Given the description of an element on the screen output the (x, y) to click on. 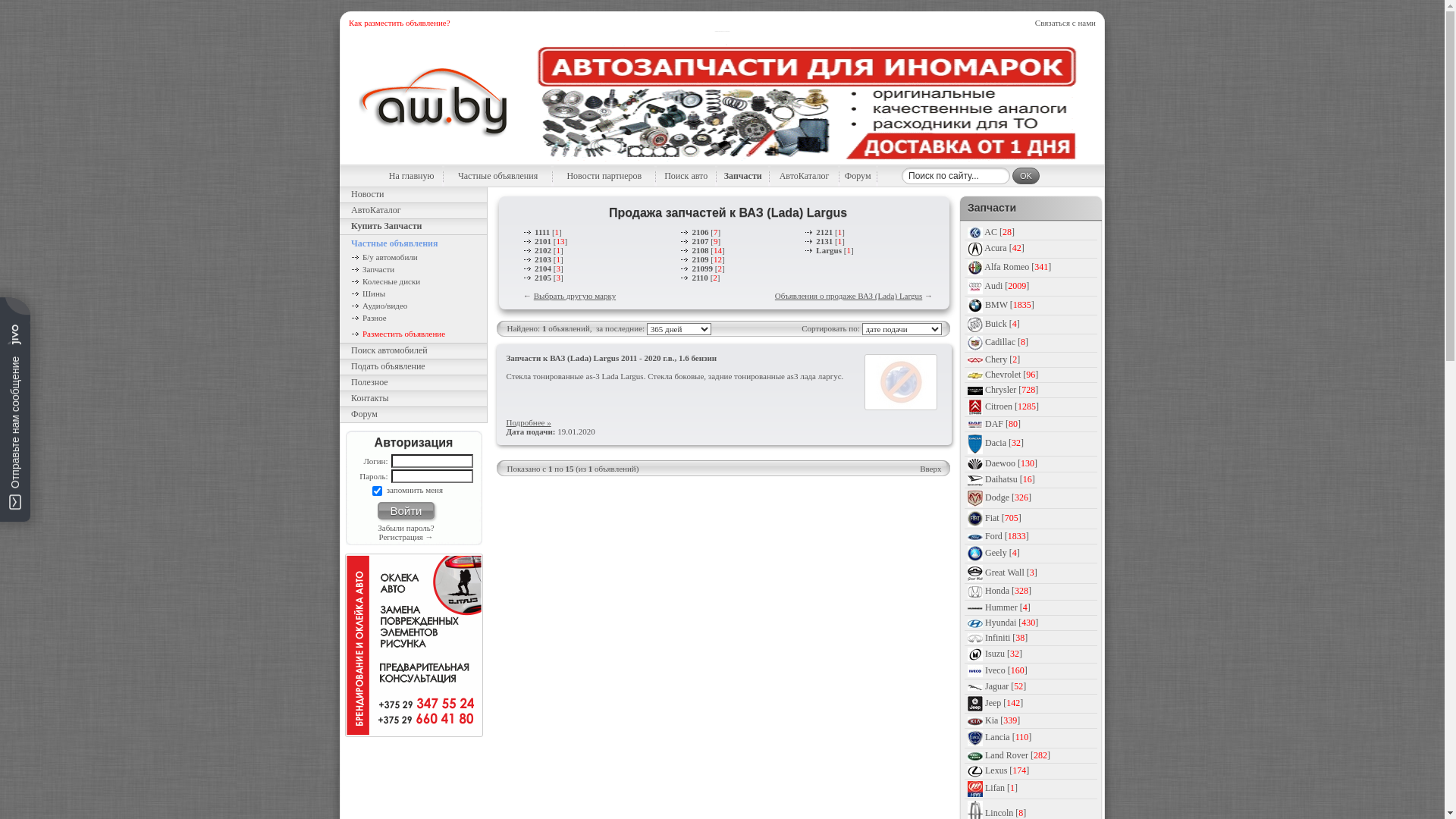
Land Rover [282] Element type: text (1017, 754)
Lincoln [8] Element type: text (1005, 812)
Cadillac [8] Element type: text (1006, 341)
1111 [1] Element type: text (542, 231)
BMW [1835] Element type: text (1009, 304)
Acura [42] Element type: text (1003, 247)
21099 [2] Element type: text (702, 268)
2102 [1] Element type: text (543, 249)
DAF [80] Element type: text (1002, 423)
Dacia [32] Element type: text (1004, 442)
Daihatsu [16] Element type: text (1010, 478)
Geely [4] Element type: text (1002, 552)
Hyundai [430] Element type: text (1011, 622)
2108 [14] Element type: text (702, 249)
2105 [3] Element type: text (543, 277)
Audi [2009] Element type: text (1006, 285)
OK Element type: text (1025, 175)
2109 [12] Element type: text (702, 258)
Citroen [1285] Element type: text (1011, 406)
Great Wall [3] Element type: text (1011, 572)
Lifan [1] Element type: text (1001, 787)
2121 [1] Element type: text (824, 231)
Chery [2] Element type: text (1002, 359)
Jaguar [52] Element type: text (1005, 685)
Infiniti [38] Element type: text (1006, 637)
Lexus [174] Element type: text (1007, 770)
Chevrolet [96] Element type: text (1011, 374)
2131 [1] Element type: text (824, 240)
Isuzu [32] Element type: text (1003, 653)
2104 [3] Element type: text (543, 268)
2106 [7] Element type: text (700, 231)
Dodge [326] Element type: text (1008, 497)
Buick [4] Element type: text (1002, 323)
Fiat [705] Element type: text (1003, 517)
2107 [9] Element type: text (700, 240)
2110 [2] Element type: text (699, 277)
Alfa Romeo [341] Element type: text (1017, 266)
Jeep [142] Element type: text (1003, 702)
Ford [1833] Element type: text (1007, 535)
AC [28] Element type: text (999, 231)
Daewoo [130] Element type: text (1011, 463)
Largus [1] Element type: text (828, 249)
Honda [328] Element type: text (1008, 590)
Lancia [110] Element type: text (1008, 737)
Kia [339] Element type: text (1002, 720)
2101 [13] Element type: text (545, 240)
Iveco [160] Element type: text (1006, 670)
Chrysler [728] Element type: text (1011, 389)
2103 [1] Element type: text (543, 258)
Hummer [4] Element type: text (1007, 607)
